Given the description of an element on the screen output the (x, y) to click on. 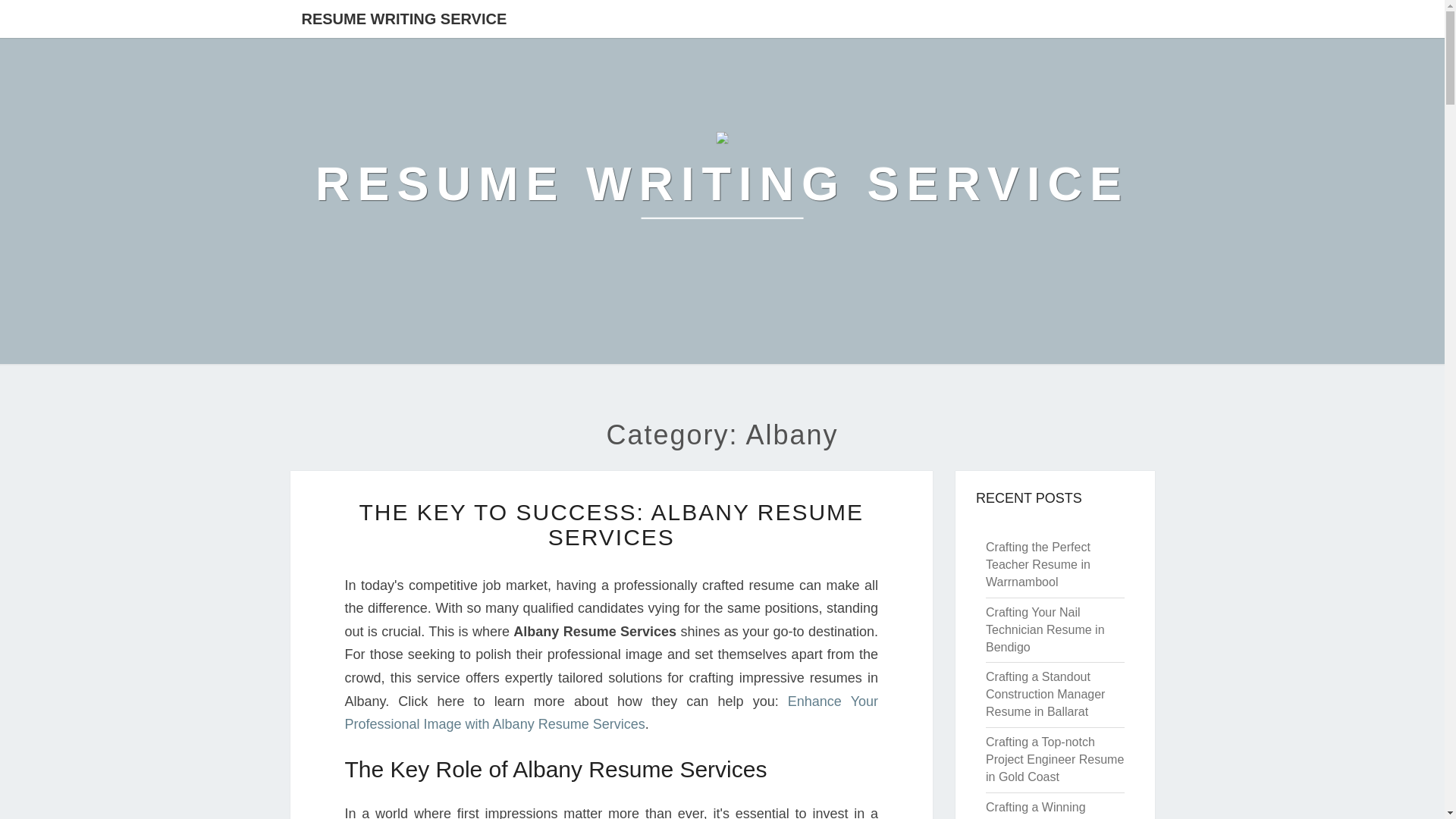
Enhance Your Professional Image with Albany Resume Services (610, 712)
Resume Writing Service (722, 184)
Crafting the Perfect Teacher Resume in Warrnambool (1037, 564)
THE KEY TO SUCCESS: ALBANY RESUME SERVICES (610, 524)
RESUME WRITING SERVICE (722, 184)
Crafting Your Nail Technician Resume in Bendigo (1045, 629)
RESUME WRITING SERVICE (403, 18)
Crafting a Standout Construction Manager Resume in Ballarat (1045, 694)
Crafting a Top-notch Project Engineer Resume in Gold Coast (1054, 758)
